Given the description of an element on the screen output the (x, y) to click on. 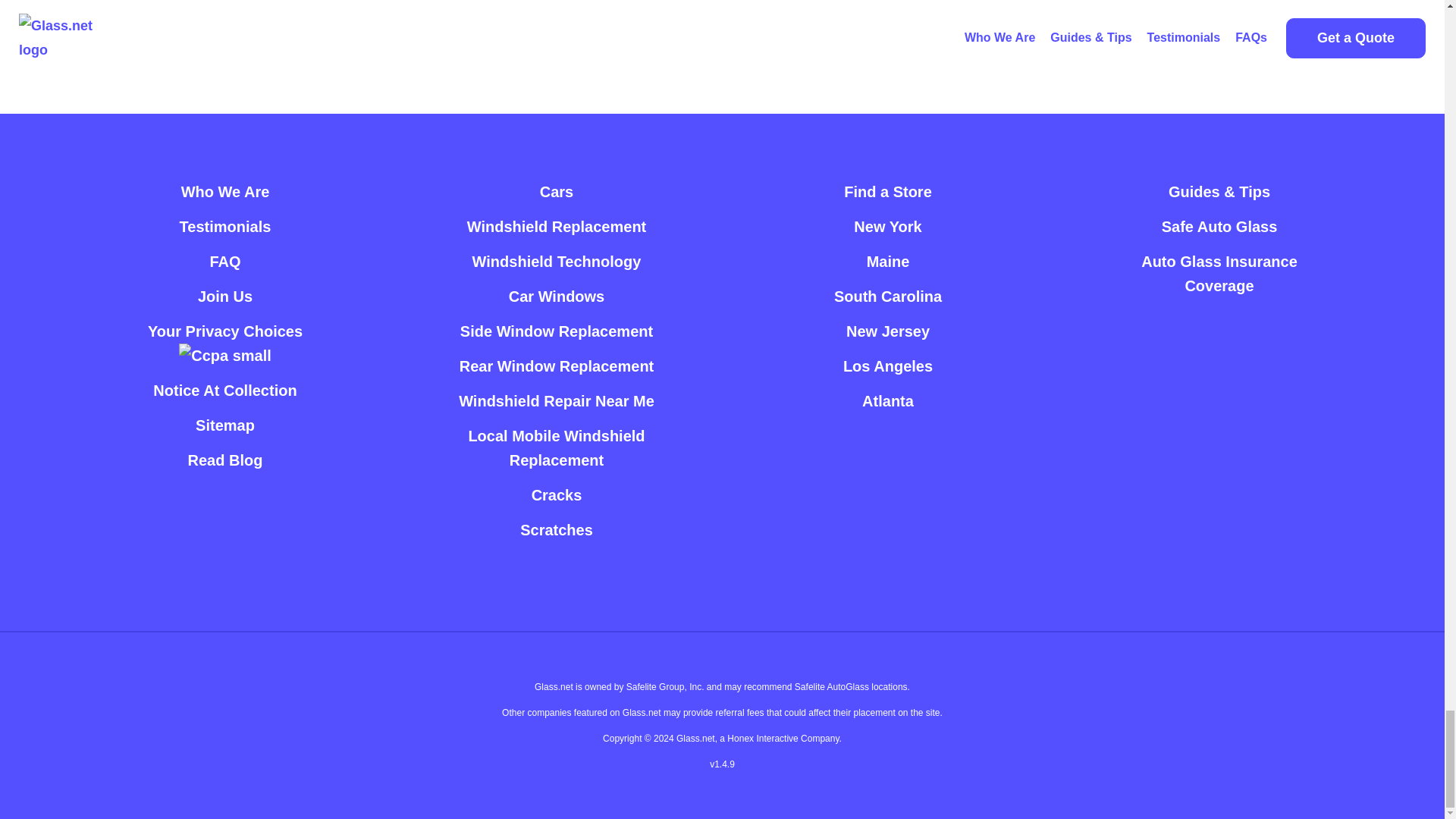
Join Us (224, 296)
Read Blog (225, 460)
Your Privacy Choices (225, 343)
Testimonials (224, 226)
Cars (556, 191)
Windshield Replacement (556, 226)
Windshield Technology (556, 261)
Mobile Glass Shops Join Glass.NET (224, 296)
Sitemap (224, 425)
Testimonials (224, 226)
